Given the description of an element on the screen output the (x, y) to click on. 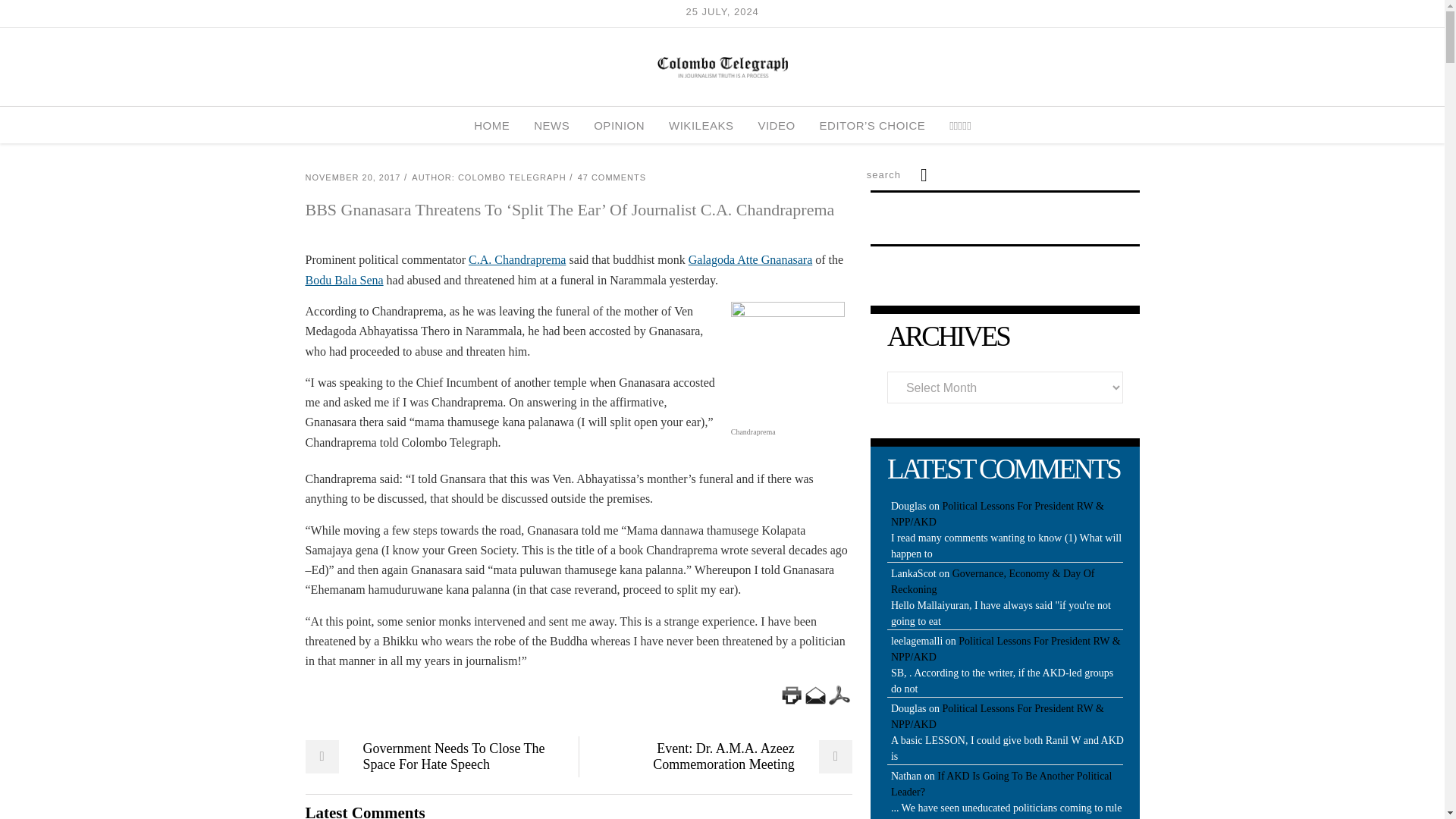
47 COMMENTS (612, 176)
WIKILEAKS (700, 125)
VIDEO (775, 125)
NEWS (550, 125)
OPINION (618, 125)
HOME (491, 125)
NOVEMBER 20, 2017 (352, 176)
C.A. Chandraprema (517, 259)
Bodu Bala Sena (343, 279)
Galagoda Atte Gnanasara (750, 259)
AUTHOR: COLOMBO TELEGRAPH (489, 176)
